Given the description of an element on the screen output the (x, y) to click on. 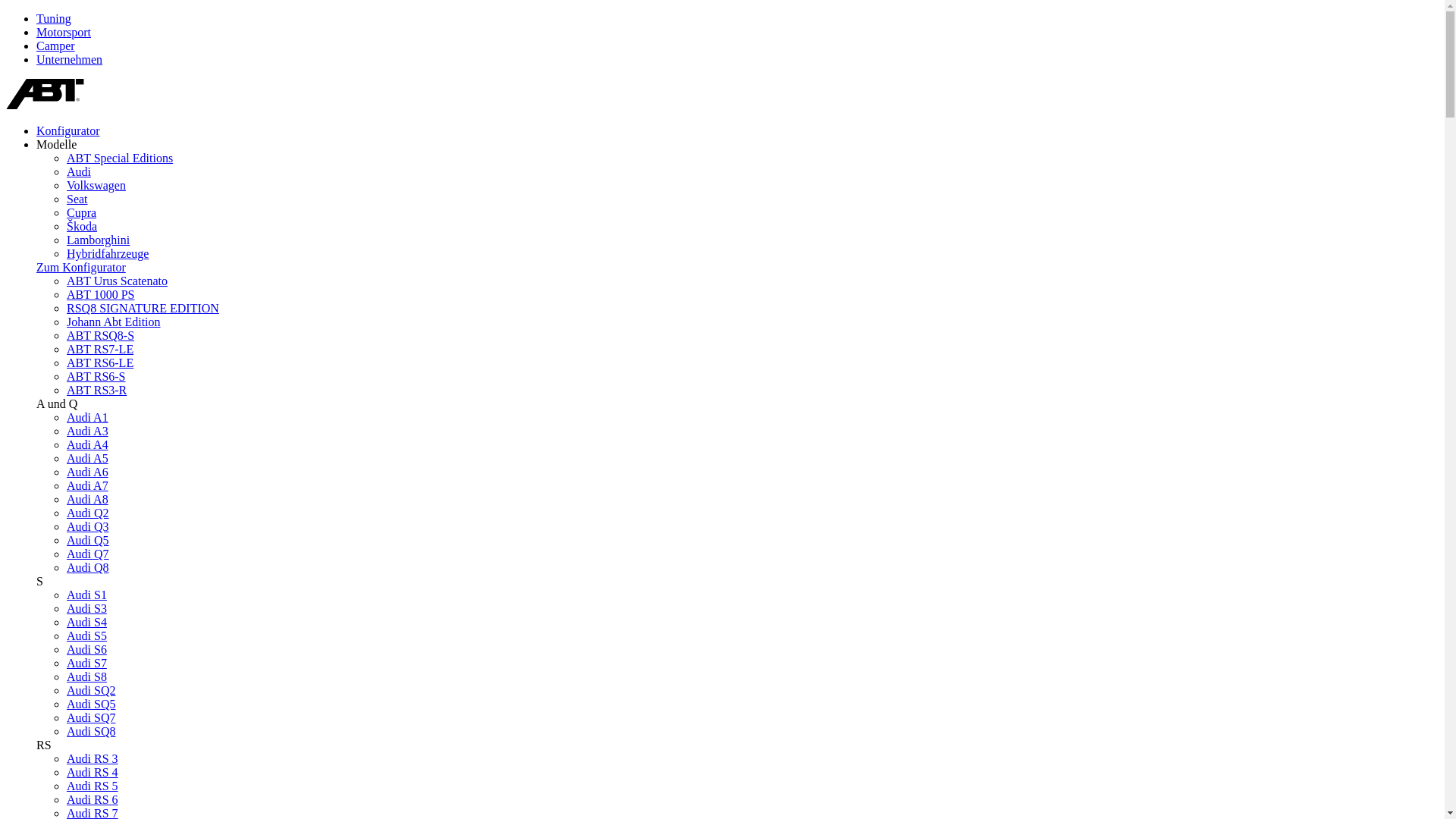
Motorsport Element type: text (63, 31)
Konfigurator Element type: text (68, 130)
Audi A4 Element type: text (87, 444)
Audi RS 4 Element type: text (92, 771)
Audi SQ8 Element type: text (90, 730)
Unternehmen Element type: text (69, 59)
Audi Q2 Element type: text (87, 512)
Audi A6 Element type: text (87, 471)
Audi SQ7 Element type: text (90, 717)
ABT RS6-S Element type: text (95, 376)
Audi Q3 Element type: text (87, 526)
ABT RSQ8-S Element type: text (100, 335)
Camper Element type: text (55, 45)
Volkswagen Element type: text (95, 184)
Audi S5 Element type: text (86, 635)
Audi S4 Element type: text (86, 621)
Audi A7 Element type: text (87, 485)
Audi Q8 Element type: text (87, 567)
Seat Element type: text (76, 198)
Audi RS 5 Element type: text (92, 785)
Audi S7 Element type: text (86, 662)
Audi Q7 Element type: text (87, 553)
ABT 1000 PS Element type: text (100, 294)
Audi S1 Element type: text (86, 594)
ABT RS3-R Element type: text (96, 389)
Tuning Element type: text (53, 18)
ABT RS6-LE Element type: text (99, 362)
Audi S8 Element type: text (86, 676)
Audi S3 Element type: text (86, 608)
Zum Konfigurator Element type: text (80, 266)
Audi A3 Element type: text (87, 430)
ABT RS7-LE Element type: text (99, 348)
Audi Q5 Element type: text (87, 539)
ABT Special Editions Element type: text (119, 157)
RSQ8 SIGNATURE EDITION Element type: text (142, 307)
Audi A8 Element type: text (87, 498)
Audi A1 Element type: text (87, 417)
Audi SQ5 Element type: text (90, 703)
Johann Abt Edition Element type: text (113, 321)
Audi SQ2 Element type: text (90, 690)
Cupra Element type: text (81, 212)
ABT Urus Scatenato Element type: text (116, 280)
Hybridfahrzeuge Element type: text (107, 253)
Audi Element type: text (78, 171)
Audi A5 Element type: text (87, 457)
Audi RS 3 Element type: text (92, 758)
Audi RS 6 Element type: text (92, 799)
Audi S6 Element type: text (86, 649)
Lamborghini Element type: text (97, 239)
